Given the description of an element on the screen output the (x, y) to click on. 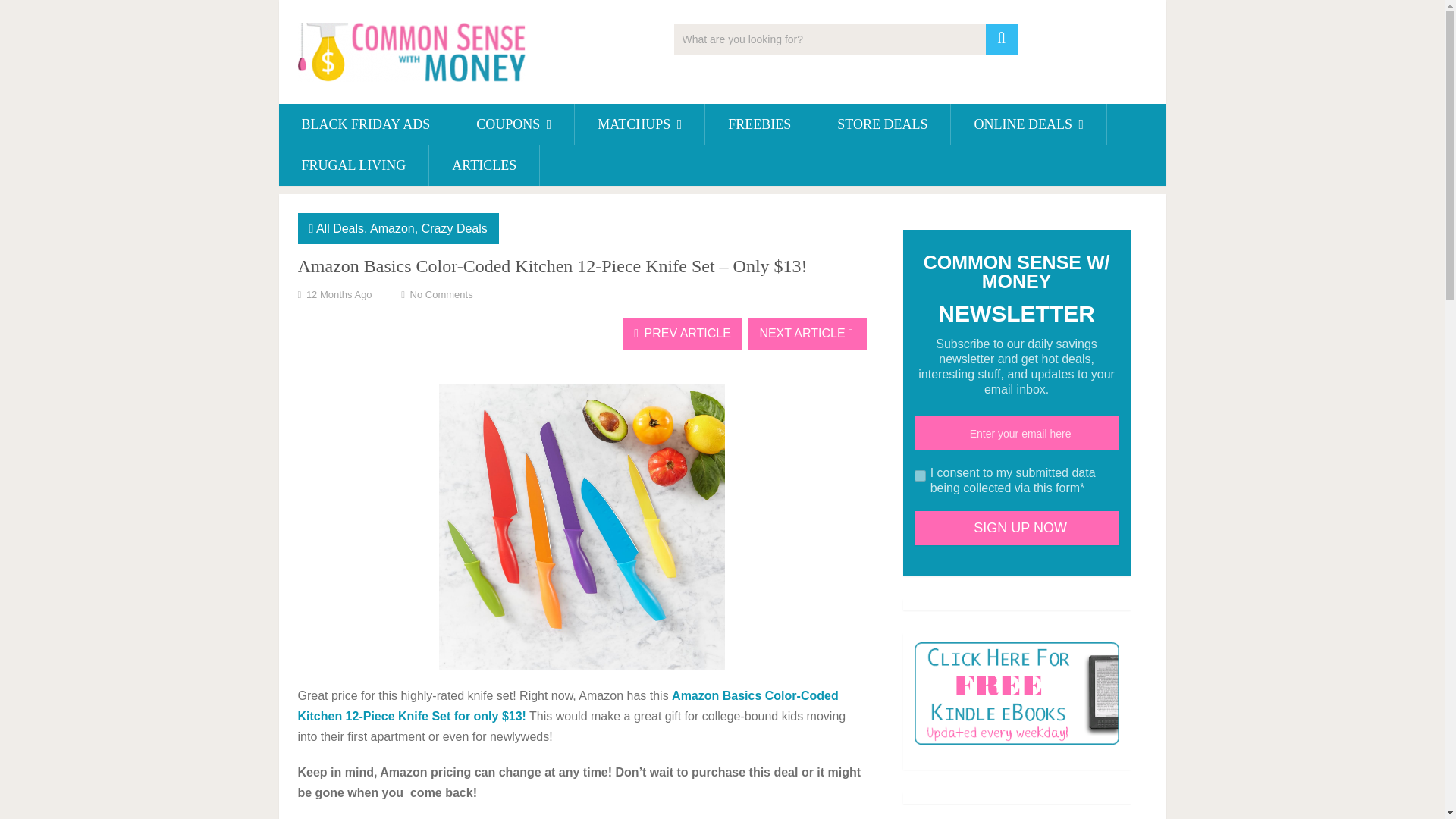
Amazon (391, 228)
on (920, 475)
FRUGAL LIVING (354, 164)
MATCHUPS (639, 124)
STORE DEALS (881, 124)
ARTICLES (483, 164)
Crazy Deals (454, 228)
COUPONS (512, 124)
NEXT ARTICLE (807, 333)
FREEBIES (758, 124)
